Given the description of an element on the screen output the (x, y) to click on. 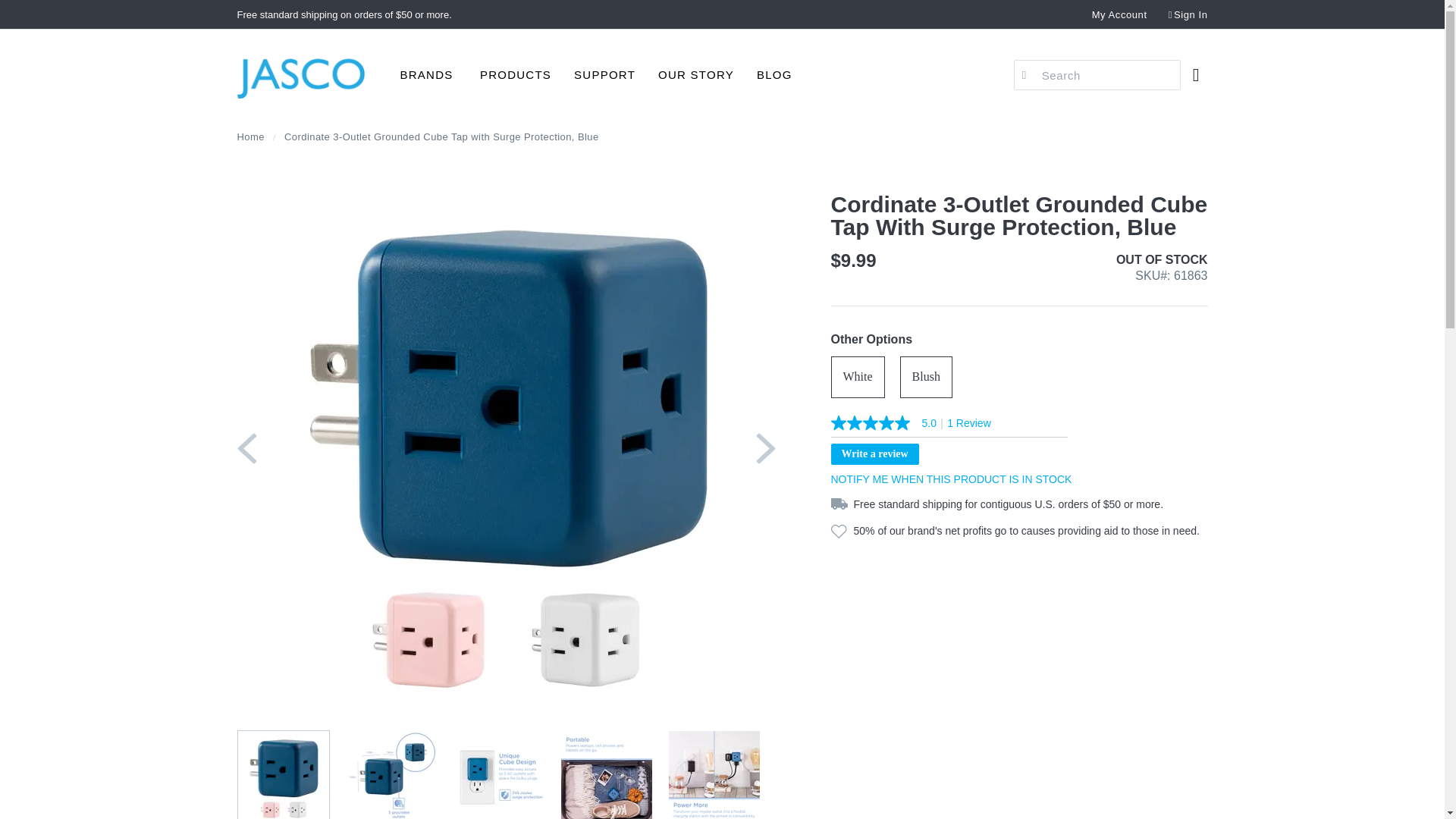
My Account (1119, 14)
BRANDS (426, 74)
PRODUCTS (515, 74)
Sign In (1188, 15)
